Given the description of an element on the screen output the (x, y) to click on. 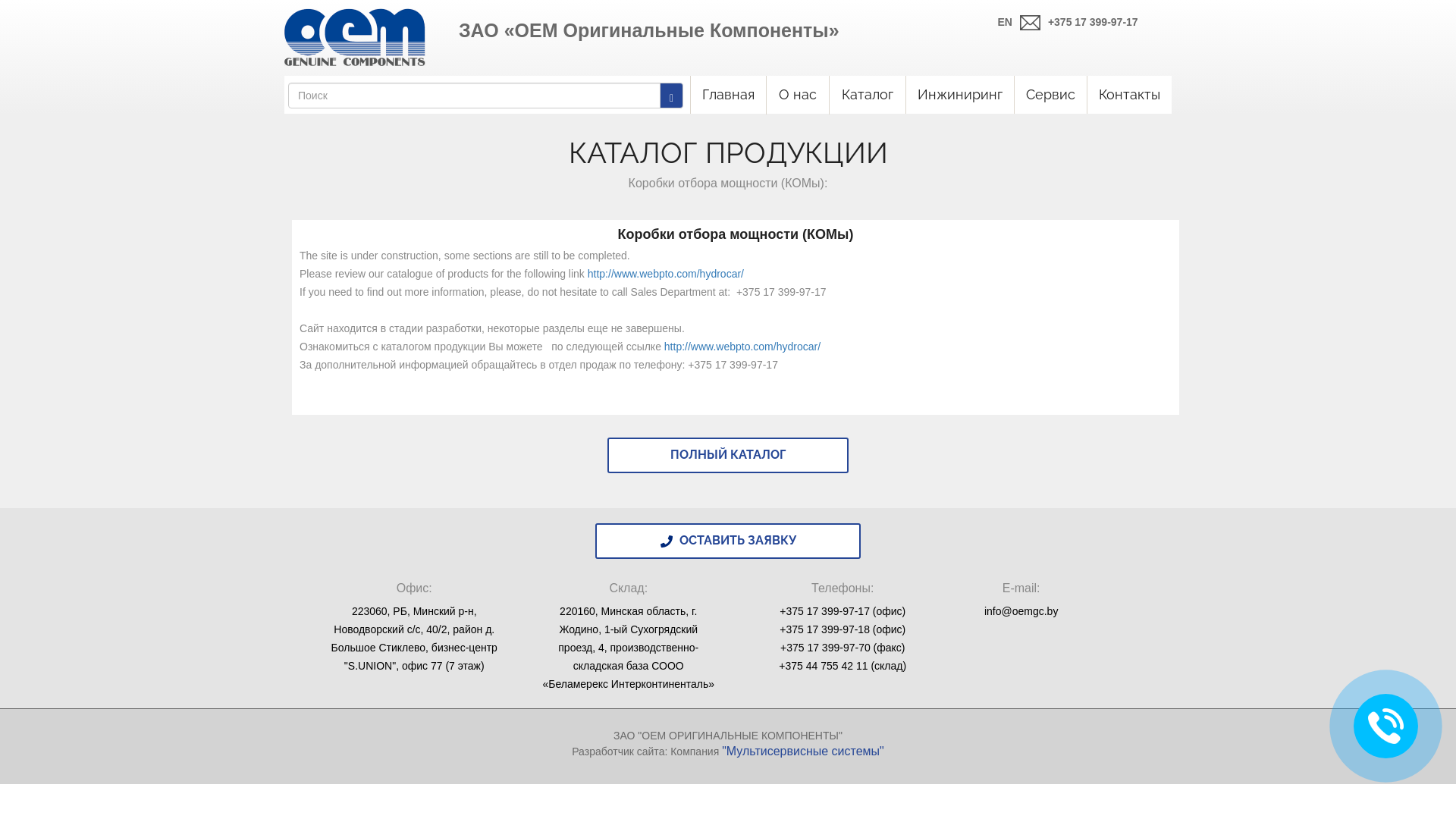
http://www.webpto.com/hydrocar/ Element type: text (742, 346)
info@oemgc.by Element type: text (1021, 611)
http://www.webpto.com/hydrocar/ Element type: text (665, 273)
